Given the description of an element on the screen output the (x, y) to click on. 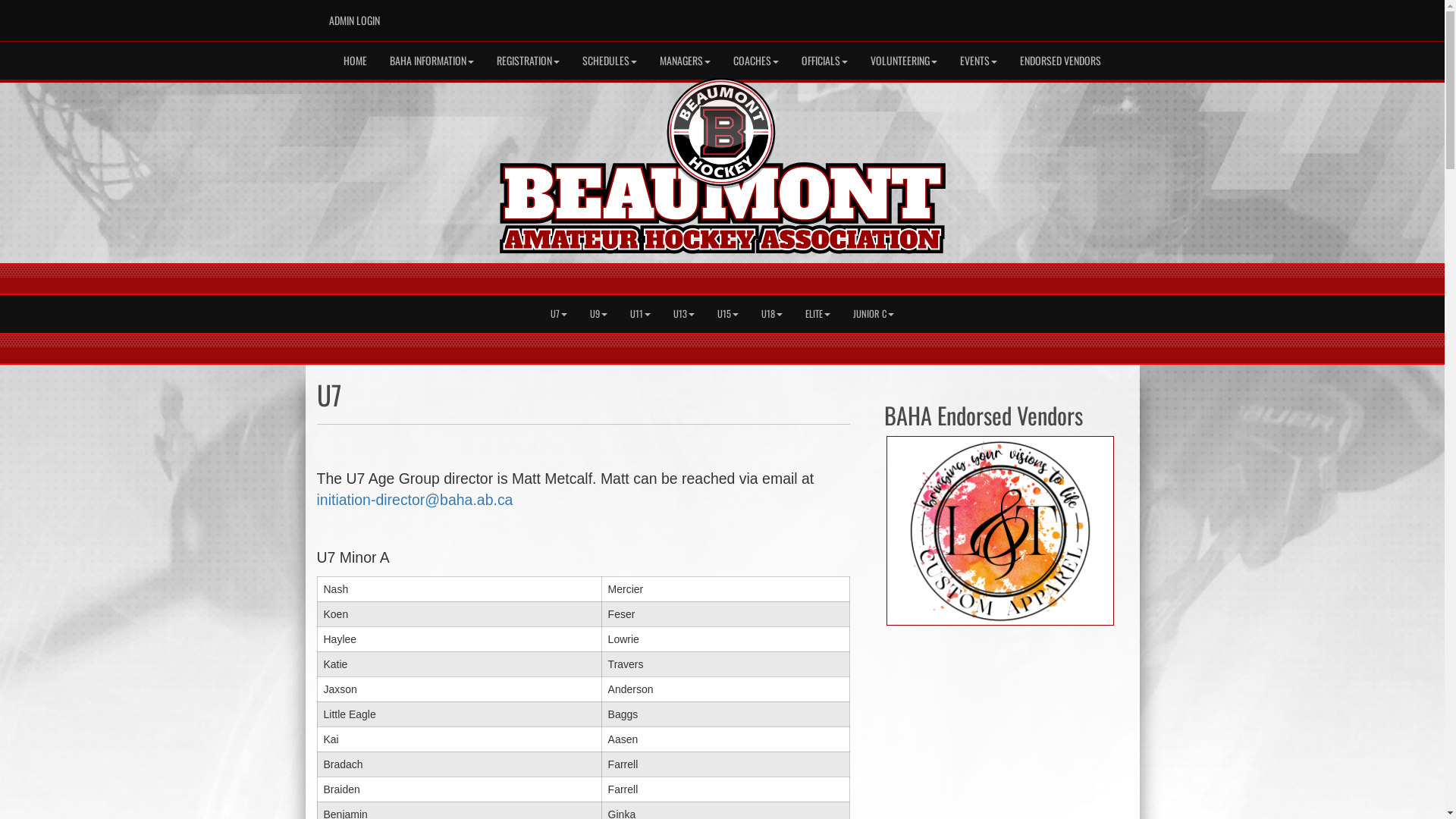
SCHEDULES Element type: text (609, 60)
EVENTS Element type: text (978, 60)
MANAGERS Element type: text (684, 60)
 ADMIN LOGIN
ADMIN LOGIN Element type: text (352, 20)
Instagram Element type: text (1106, 15)
Twitter Element type: text (1084, 15)
U13 Element type: text (684, 313)
initiation-director@baha.ab.ca Element type: text (414, 499)
U11 Element type: text (640, 313)
U7 Element type: text (558, 313)
ELITE Element type: text (817, 313)
REGISTRATION Element type: text (528, 60)
U9 Element type: text (598, 313)
U15 Element type: text (727, 313)
COACHES Element type: text (755, 60)
JUNIOR C Element type: text (873, 313)
BAHA INFORMATION Element type: text (431, 60)
VOLUNTEERING Element type: text (903, 60)
U18 Element type: text (771, 313)
Facebook Element type: text (1061, 15)
ENDORSED VENDORS Element type: text (1060, 60)
HOME Element type: text (355, 60)
OFFICIALS Element type: text (824, 60)
